Given the description of an element on the screen output the (x, y) to click on. 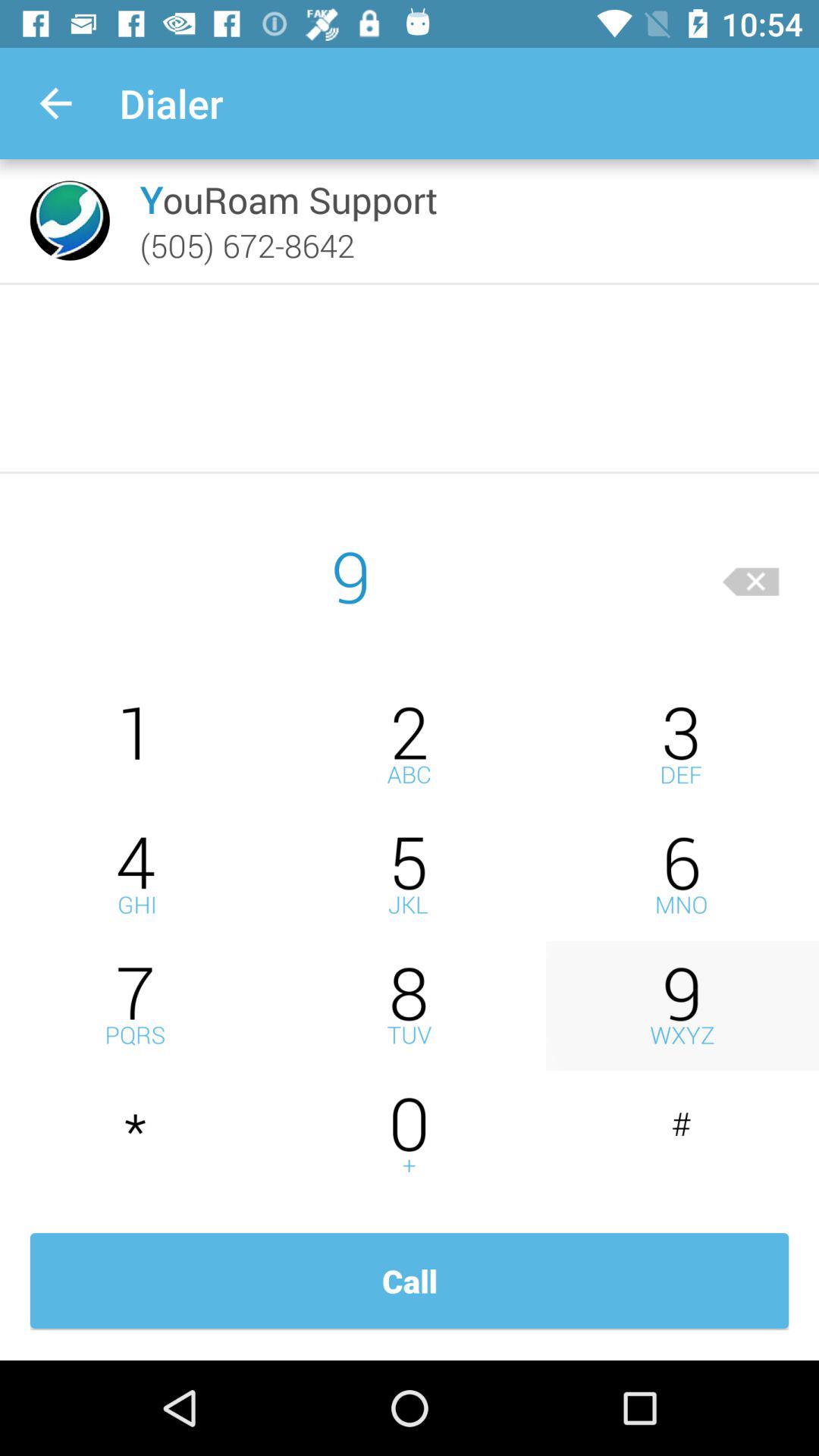
enter a digit (136, 745)
